Given the description of an element on the screen output the (x, y) to click on. 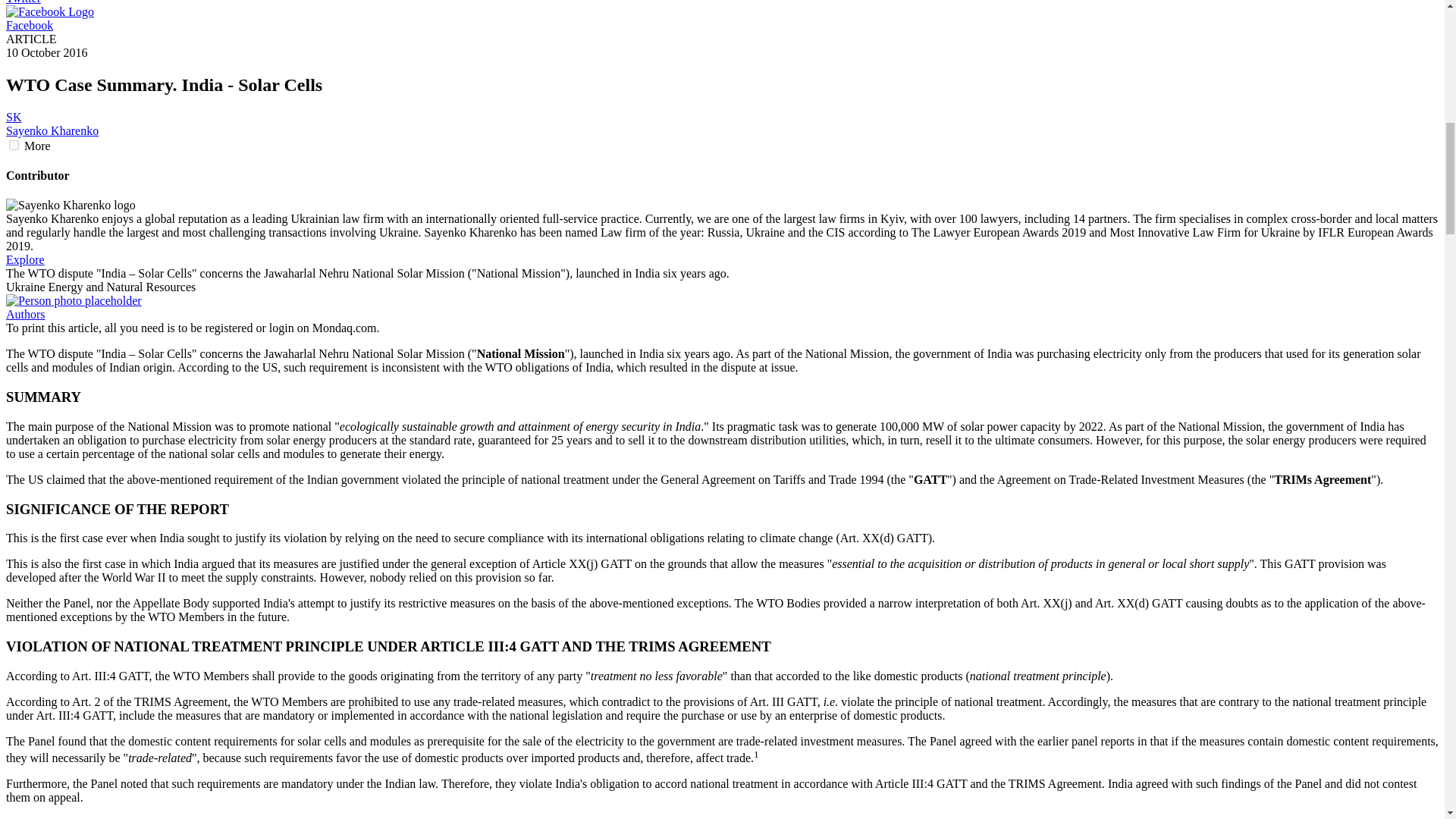
on (13, 144)
